Given the description of an element on the screen output the (x, y) to click on. 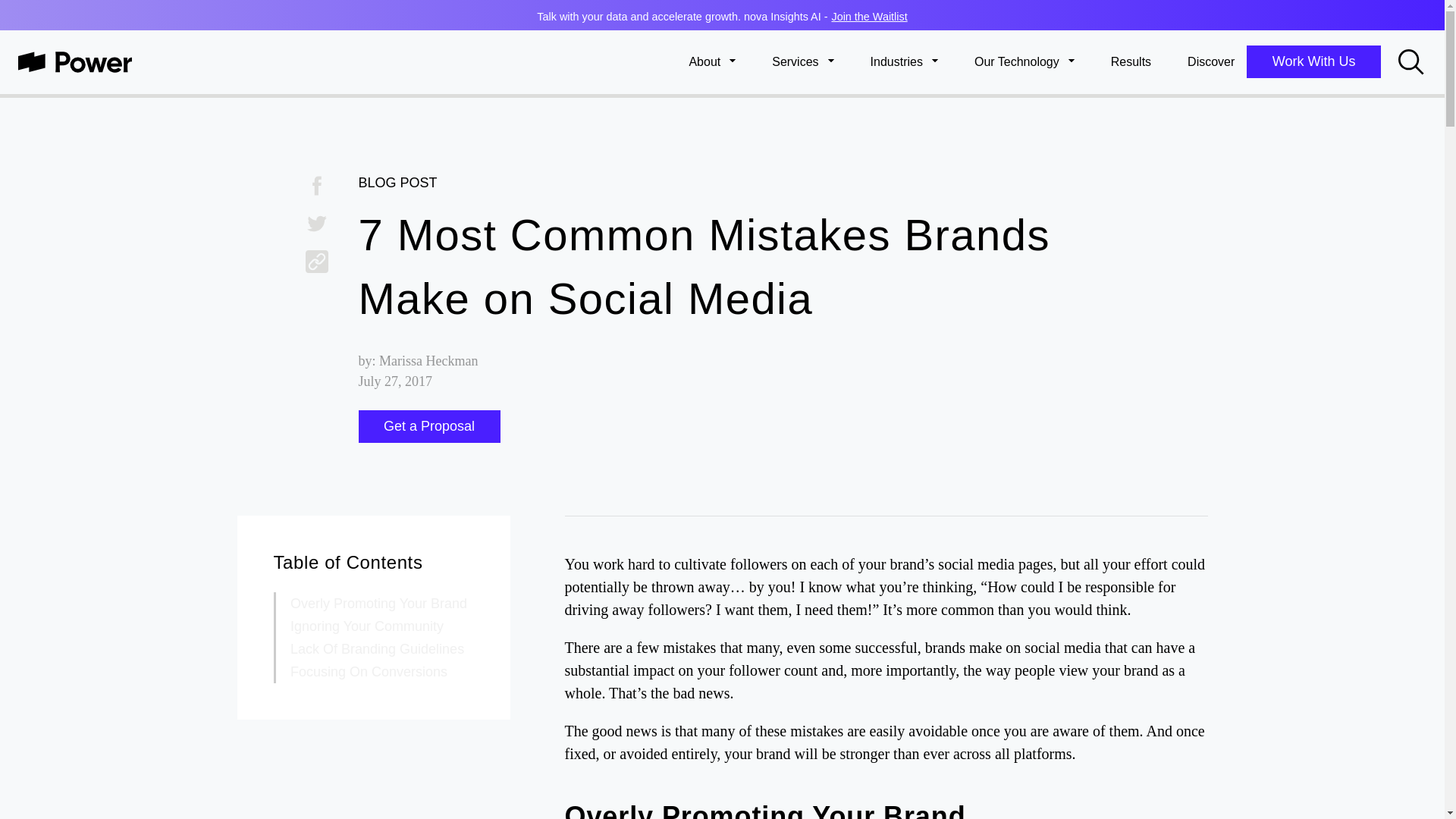
Services (801, 62)
About (711, 62)
About (711, 62)
Services (801, 62)
Join the Waitlist (869, 16)
Industries (903, 62)
